Given the description of an element on the screen output the (x, y) to click on. 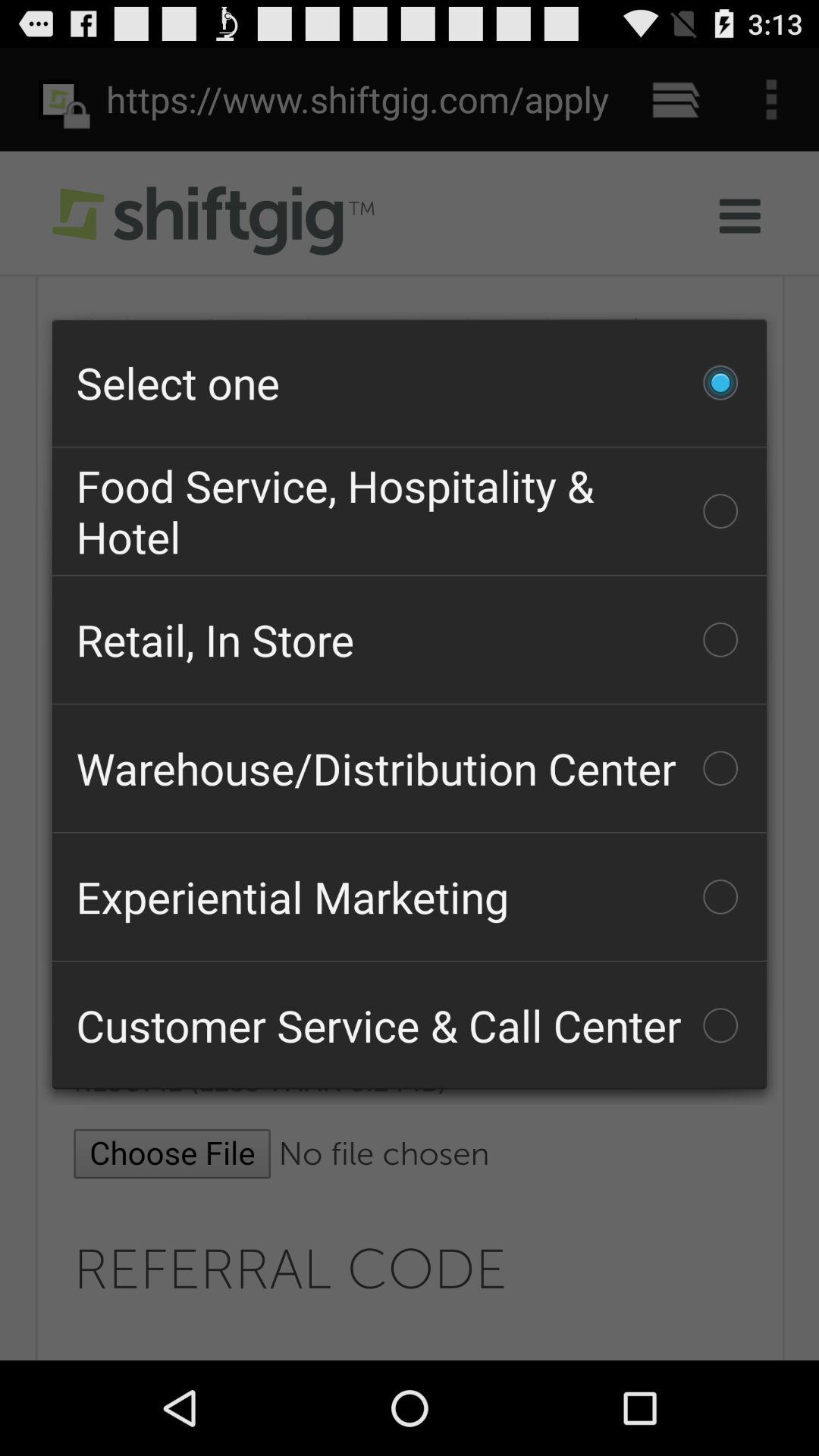
choose the icon below the retail, in store checkbox (409, 768)
